Given the description of an element on the screen output the (x, y) to click on. 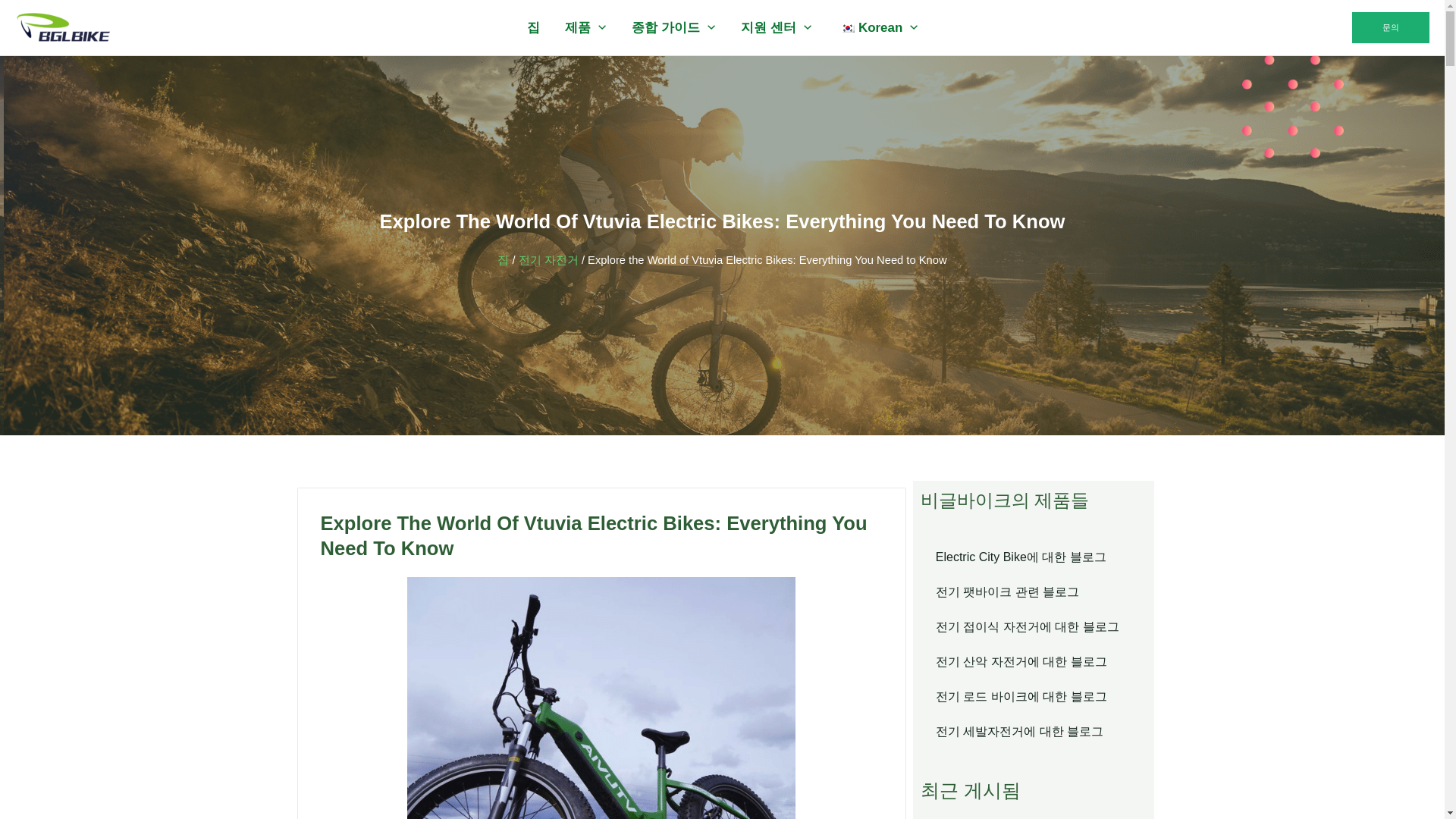
Korean (877, 27)
Korean (847, 26)
